Given the description of an element on the screen output the (x, y) to click on. 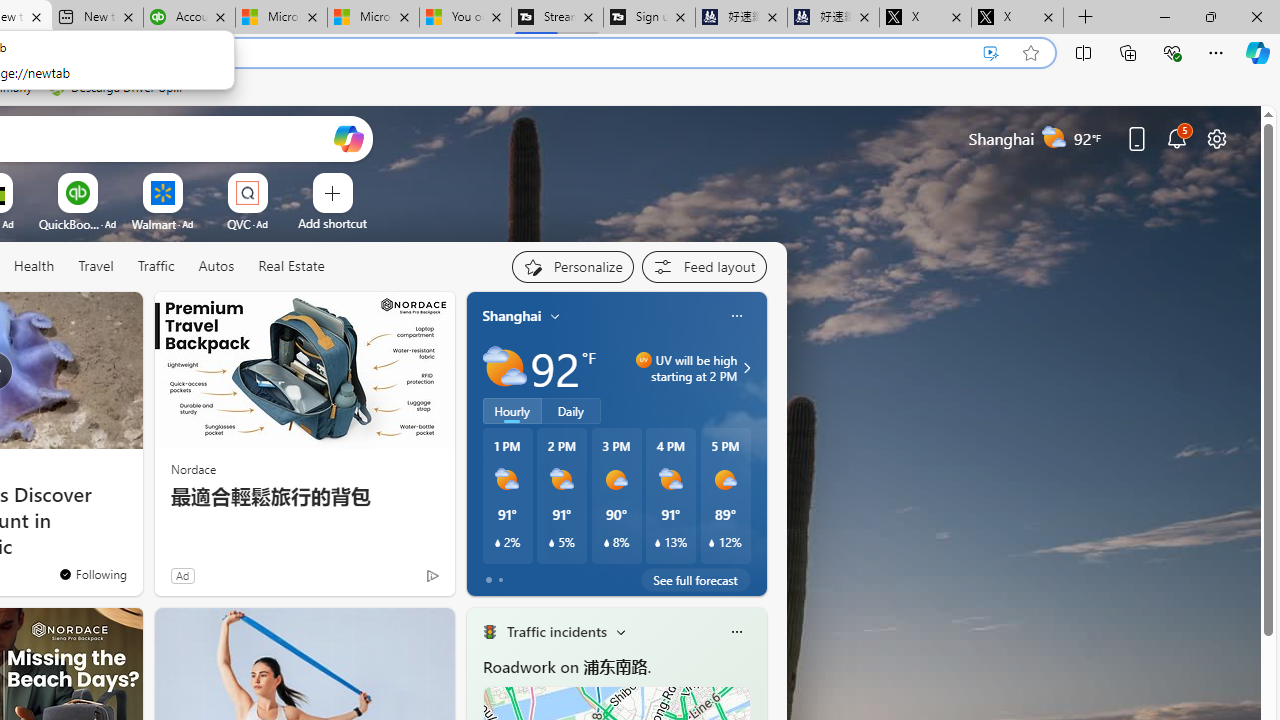
Autos (216, 267)
Personalize your feed" (571, 266)
tab-0 (488, 579)
Notifications (1176, 138)
Real Estate (291, 265)
Class: icon-img (736, 632)
Descarga Driver Updater (118, 88)
Traffic (155, 265)
Traffic incidents (555, 631)
